Given the description of an element on the screen output the (x, y) to click on. 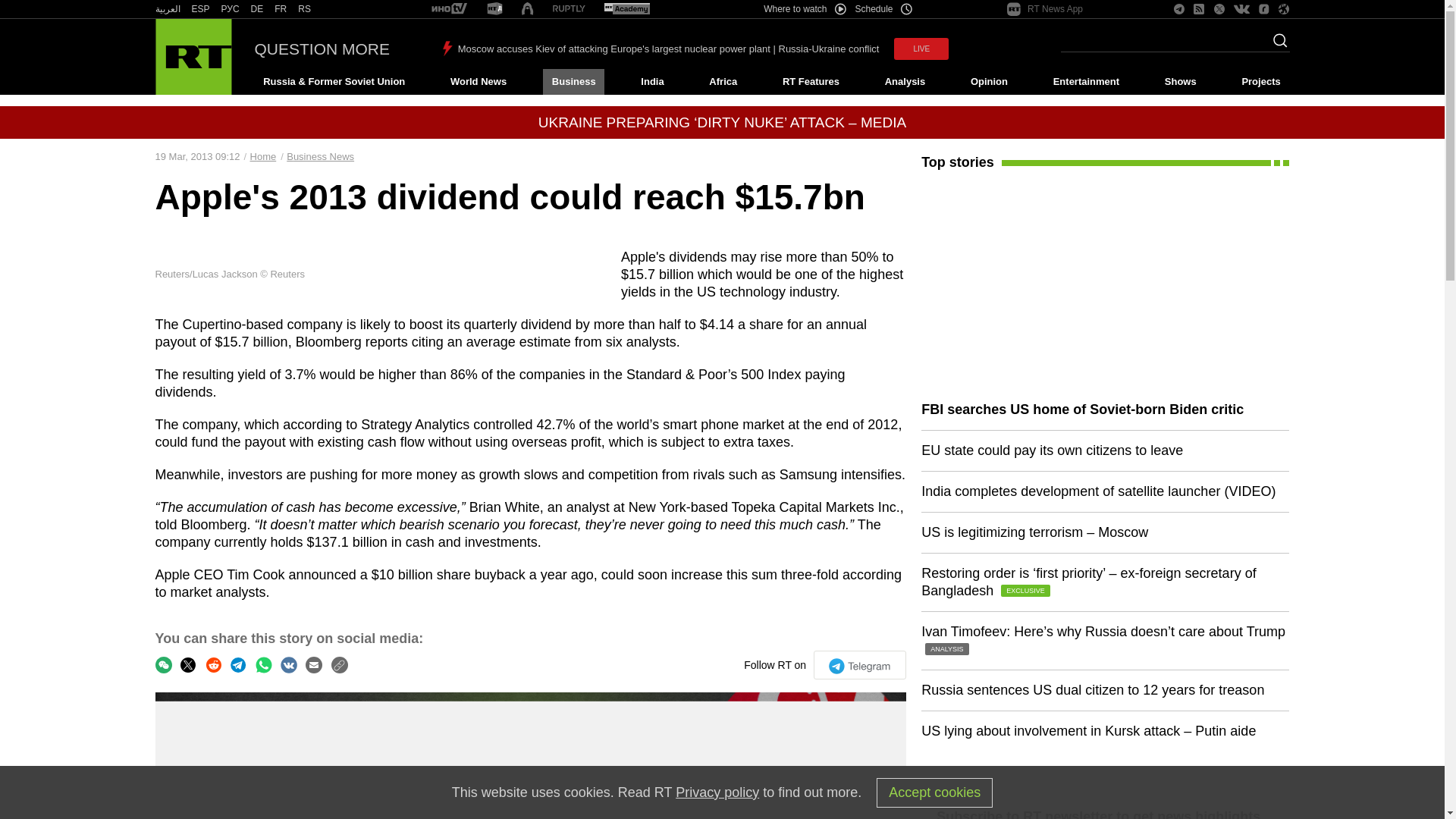
Search (1276, 44)
Business (573, 81)
DE (256, 9)
RT  (494, 9)
Entertainment (1085, 81)
Schedule (884, 9)
LIVE (921, 48)
RT  (304, 9)
RT  (166, 9)
ESP (199, 9)
